Given the description of an element on the screen output the (x, y) to click on. 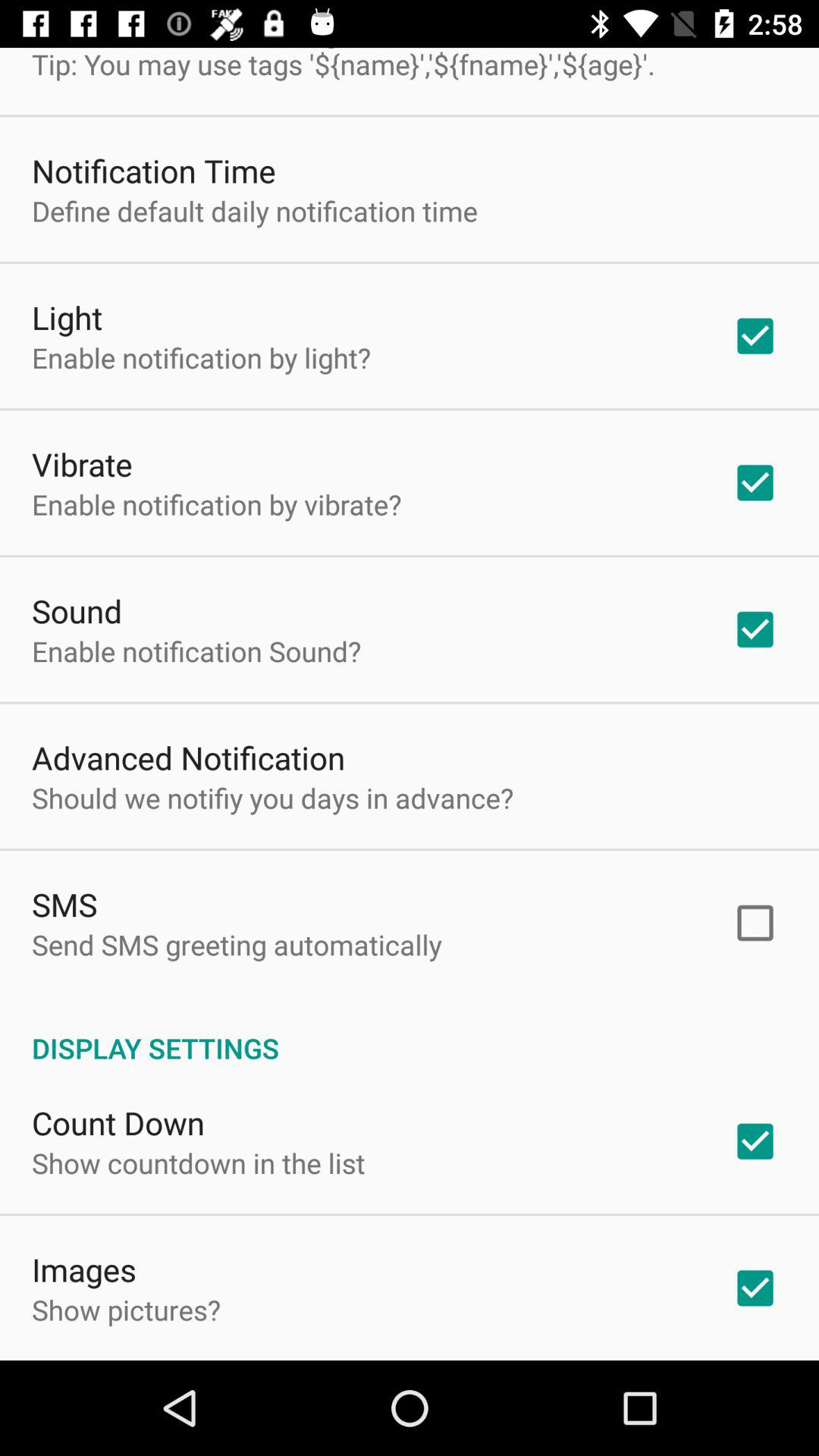
jump to the customize your greeting icon (343, 65)
